Given the description of an element on the screen output the (x, y) to click on. 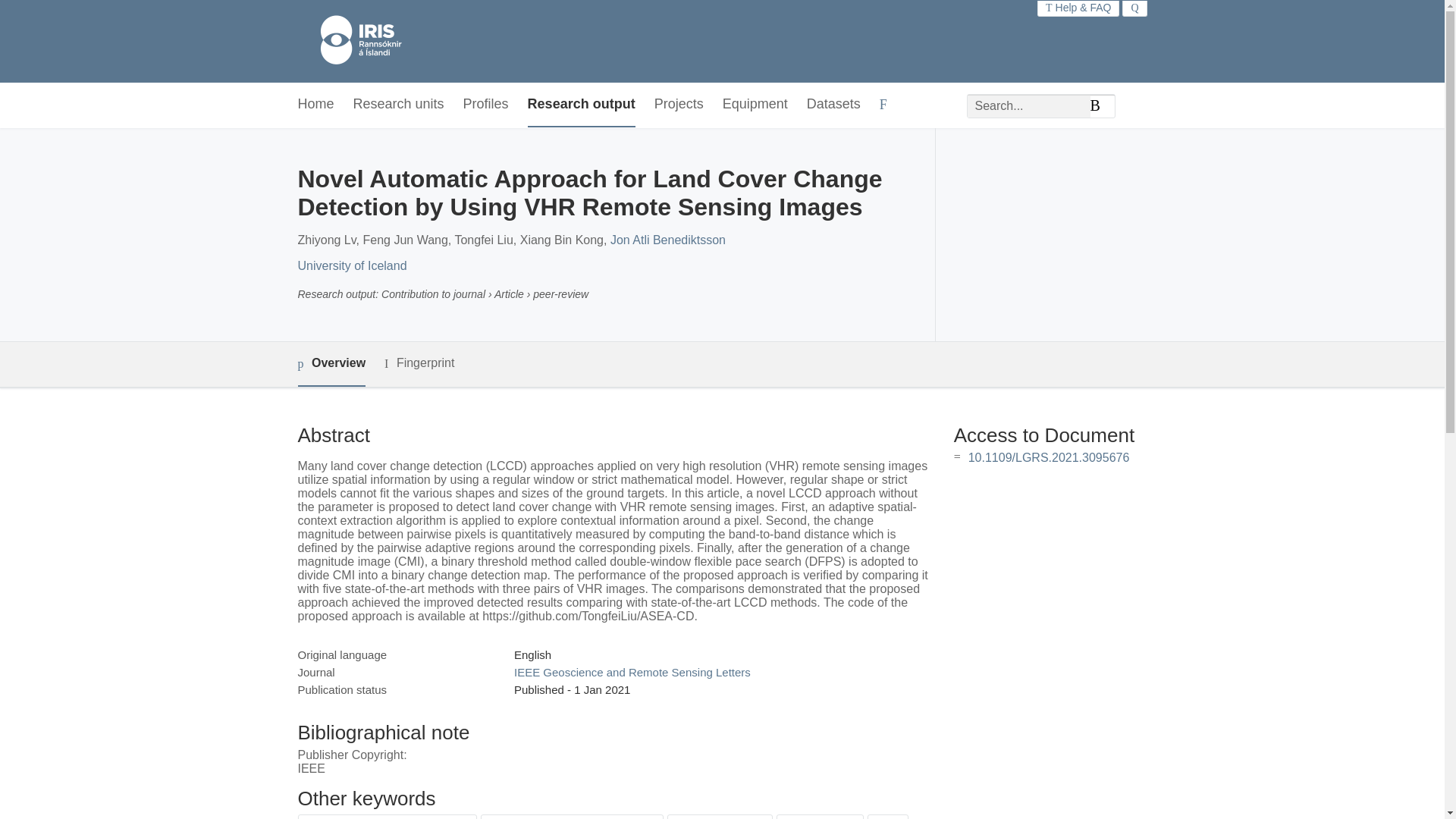
IEEE Geoscience and Remote Sensing Letters (632, 671)
University of Iceland (351, 265)
Home (315, 104)
Jon Atli Benediktsson (667, 239)
Equipment (754, 104)
Datasets (833, 104)
Projects (678, 104)
Profiles (485, 104)
Home (353, 41)
Fingerprint (419, 363)
Overview (331, 364)
Research units (398, 104)
Research output (580, 104)
